Given the description of an element on the screen output the (x, y) to click on. 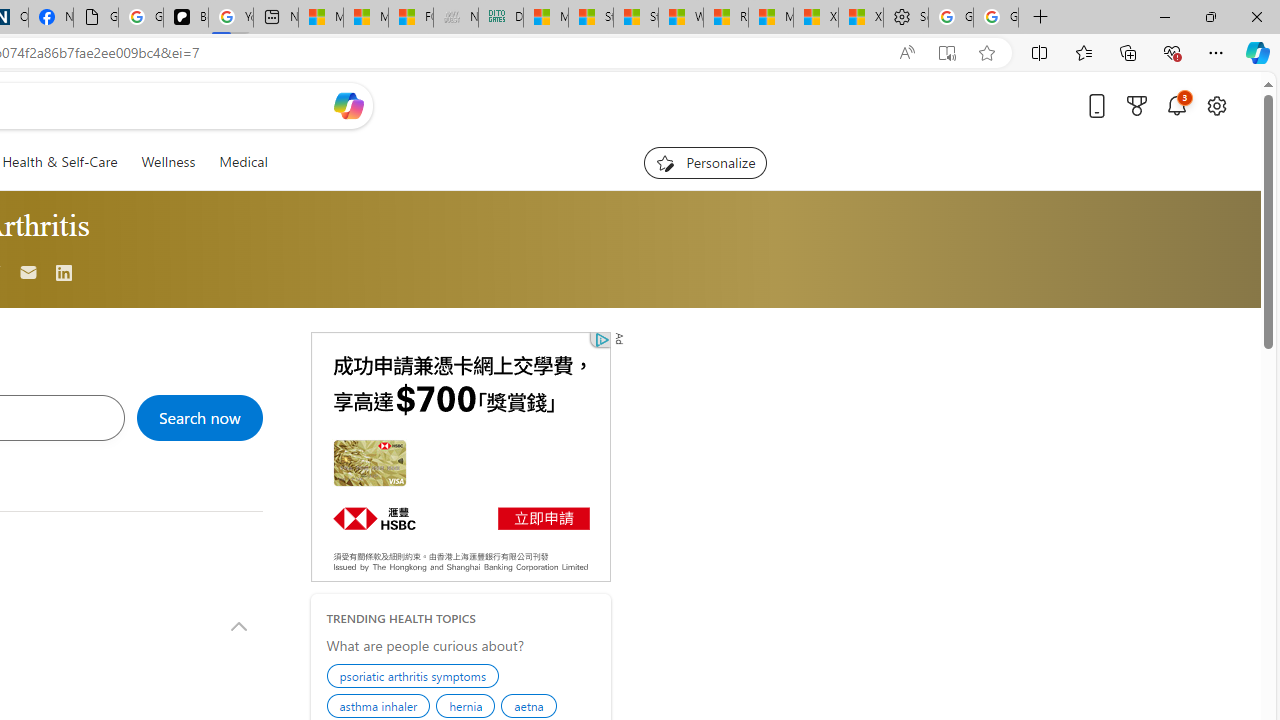
psoriatic arthritis symptoms (415, 678)
